Given the description of an element on the screen output the (x, y) to click on. 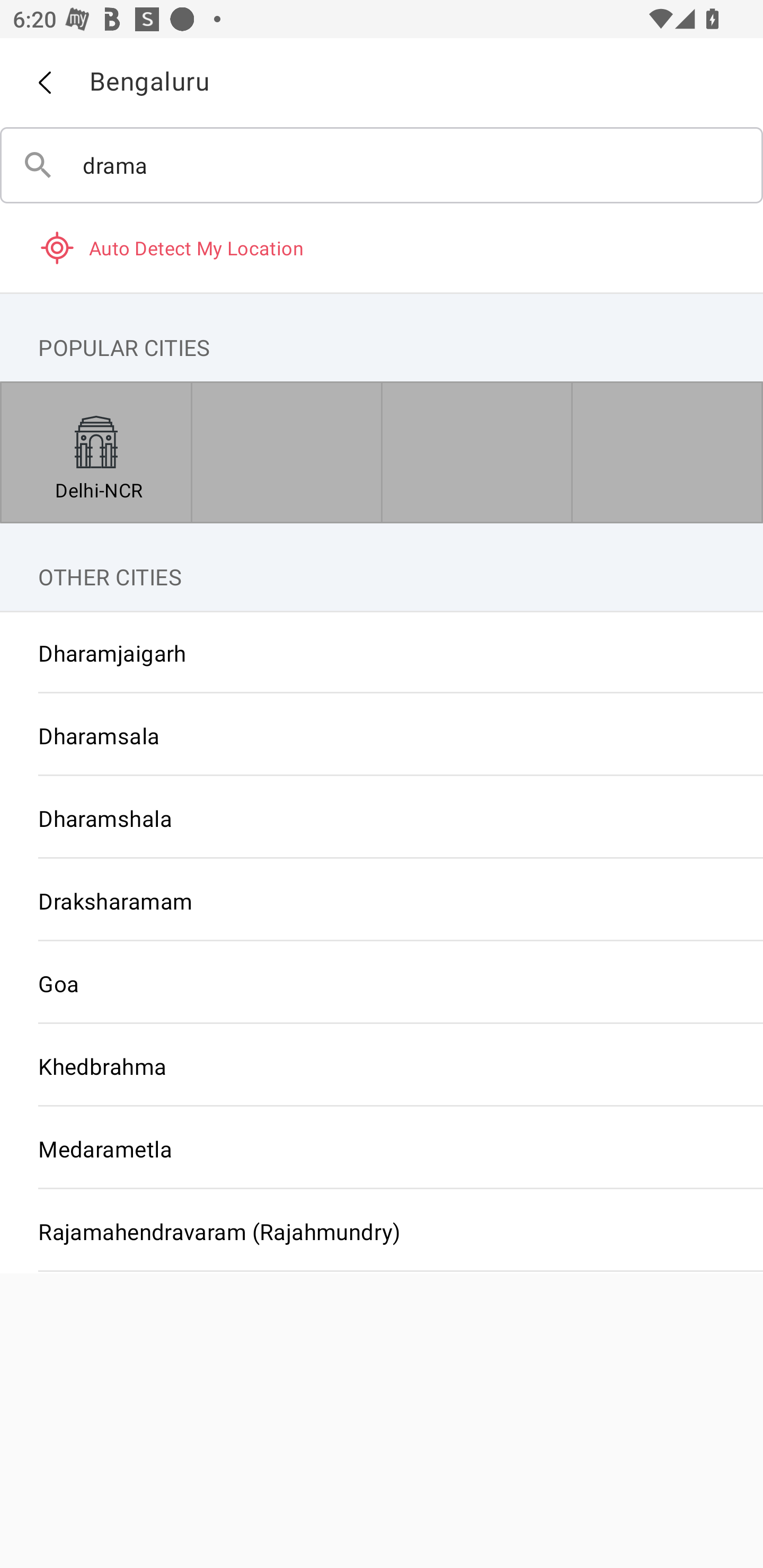
Back (44, 82)
drama (381, 165)
Auto Detect My Location (381, 247)
Delhi-NCR (95, 452)
Dharamjaigarh (381, 653)
Dharamsala (381, 735)
Dharamshala (381, 818)
Draksharamam (381, 900)
Goa (381, 982)
Khedbrahma (381, 1066)
Medarametla (381, 1148)
Rajamahendravaram (Rajahmundry) (381, 1230)
